Given the description of an element on the screen output the (x, y) to click on. 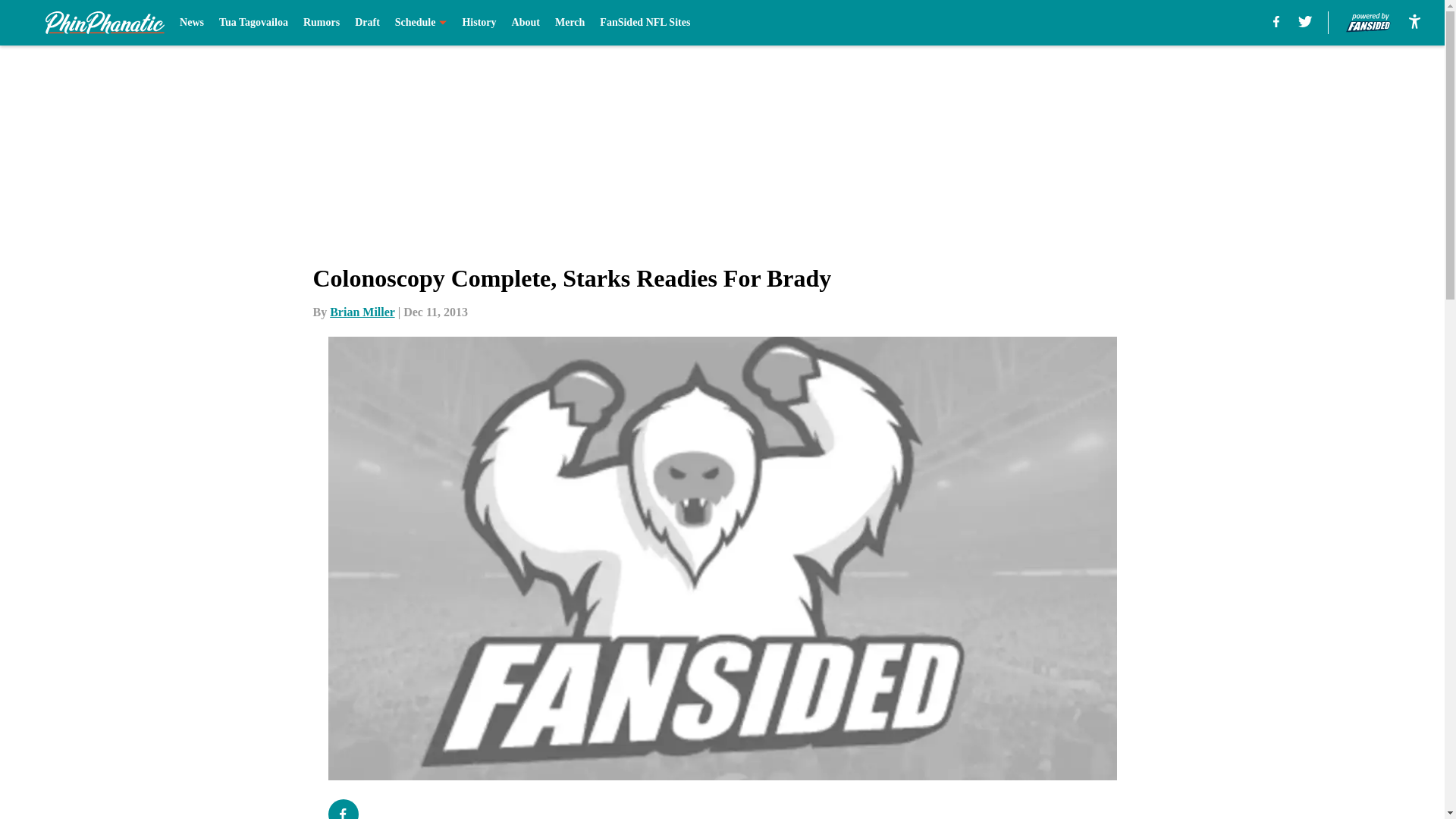
FanSided NFL Sites (644, 22)
News (191, 22)
Brian Miller (362, 311)
Draft (367, 22)
About (526, 22)
Merch (569, 22)
Rumors (320, 22)
Tua Tagovailoa (253, 22)
History (478, 22)
